Given the description of an element on the screen output the (x, y) to click on. 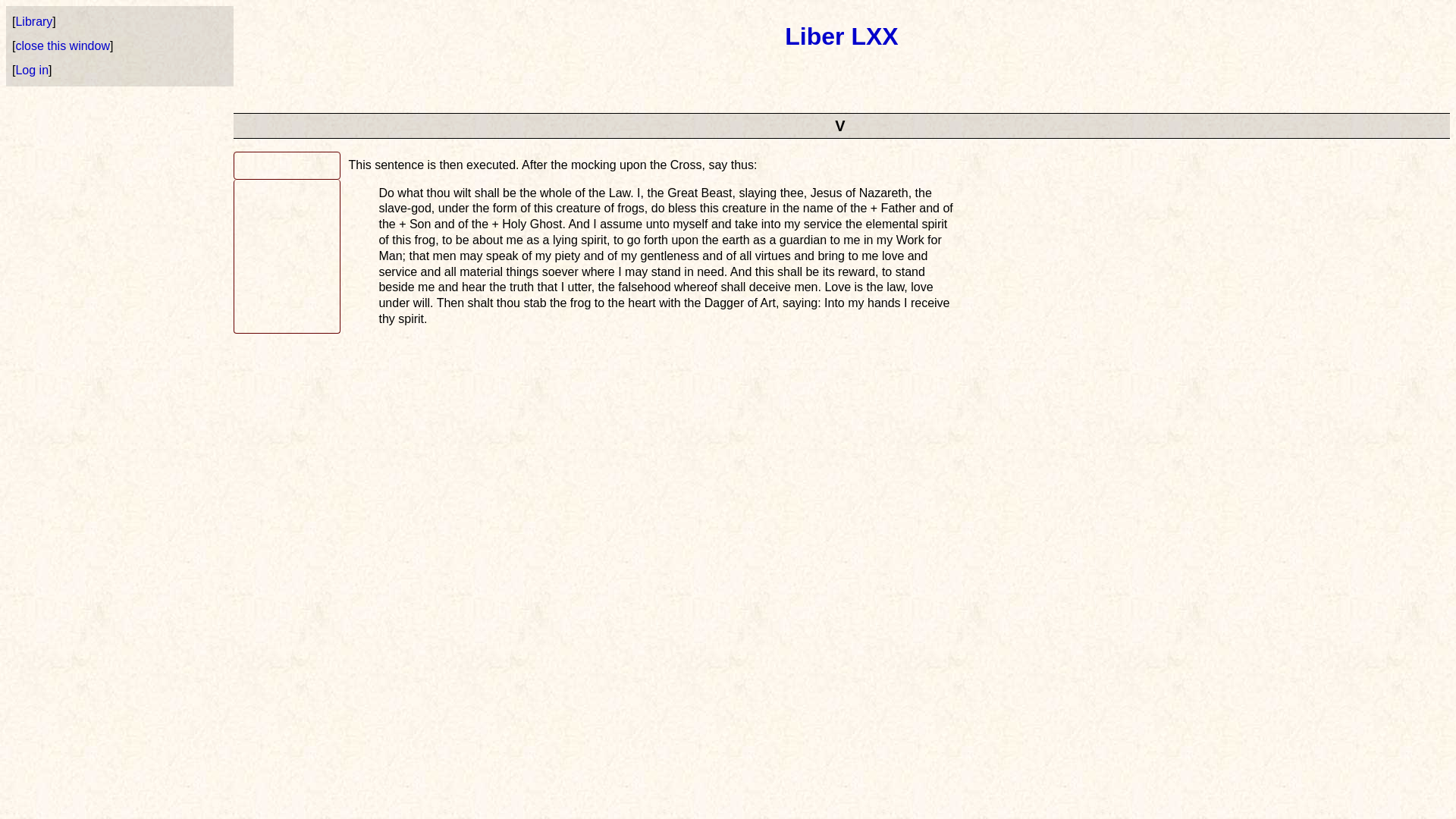
Log in (31, 69)
liber 70, 5:2 (286, 256)
liber 70, 5:1 (286, 165)
close this window (62, 45)
Liber LXX (841, 35)
Library (33, 21)
